Given the description of an element on the screen output the (x, y) to click on. 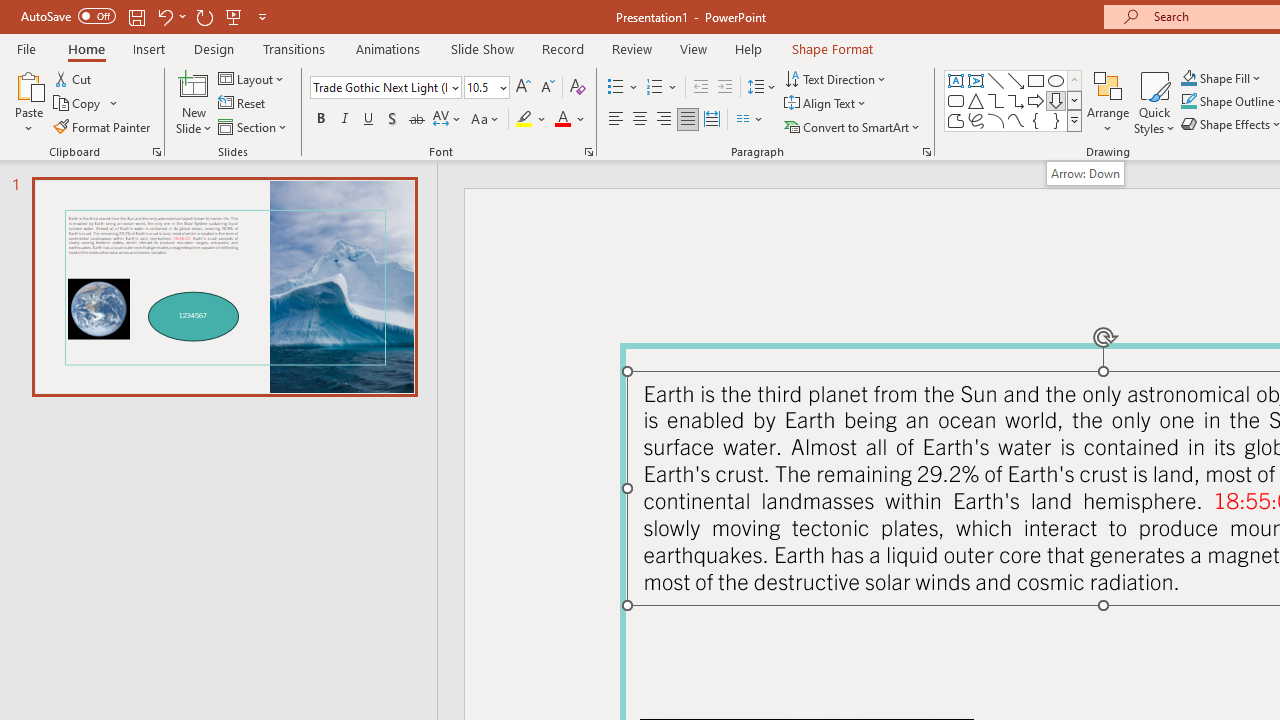
Shape Outline Teal, Accent 1 (1188, 101)
